Given the description of an element on the screen output the (x, y) to click on. 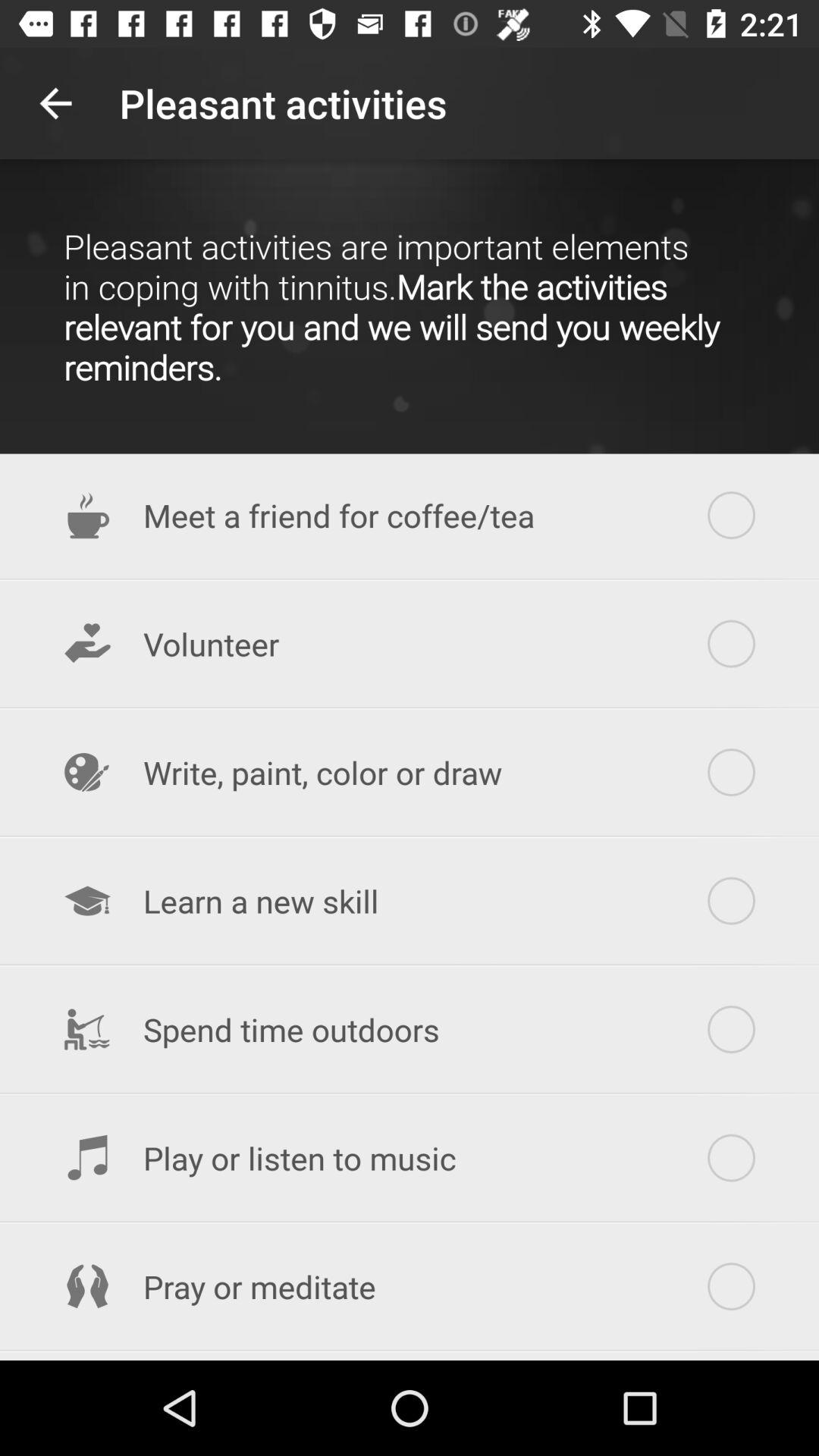
turn off pray or meditate (409, 1286)
